Given the description of an element on the screen output the (x, y) to click on. 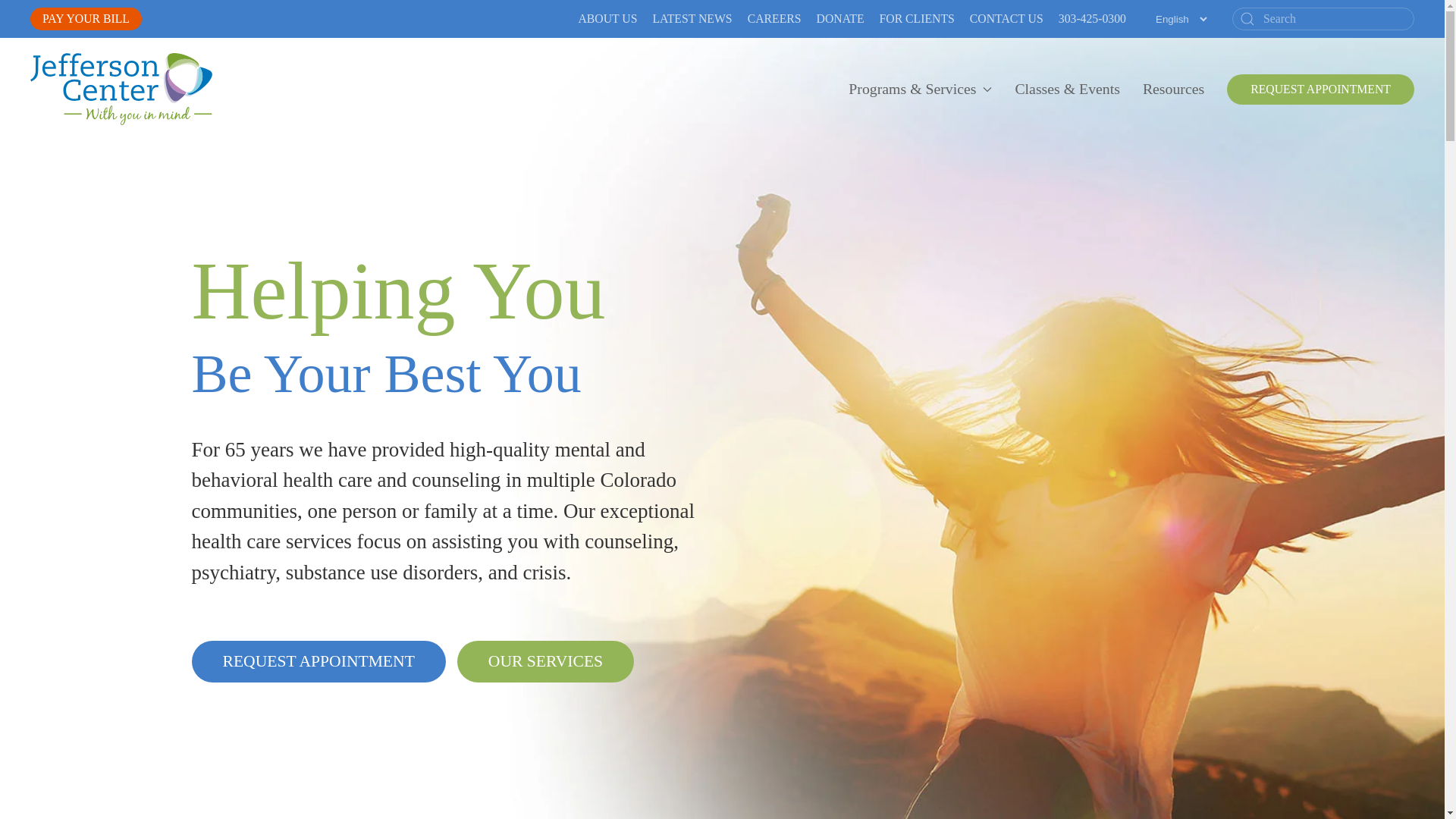
303-425-0300 (1091, 18)
PAY YOUR BILL (85, 18)
DONATE (840, 18)
CAREERS (775, 18)
ABOUT US (607, 18)
CONTACT US (1006, 18)
LATEST NEWS (692, 18)
FOR CLIENTS (917, 18)
